Given the description of an element on the screen output the (x, y) to click on. 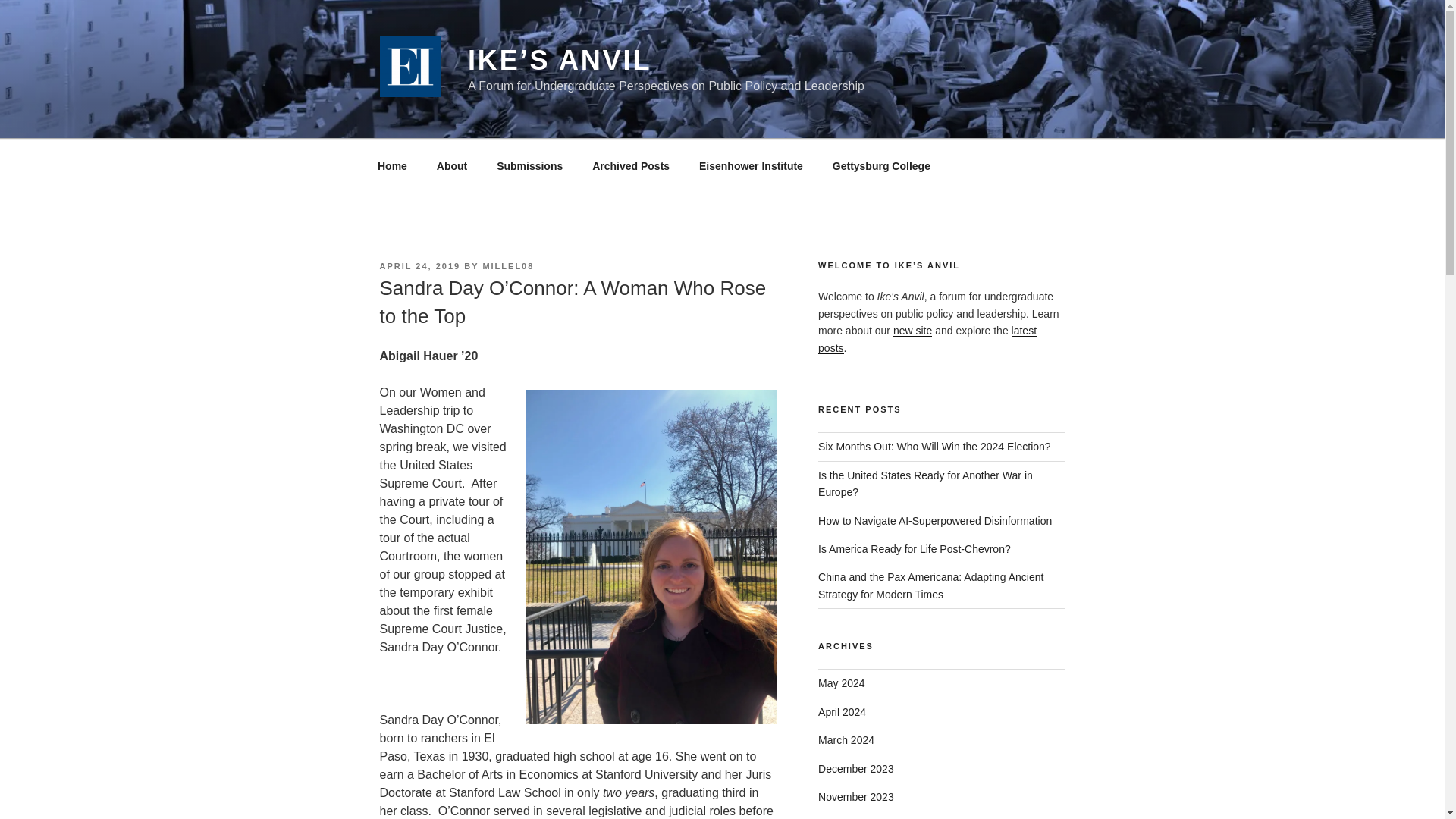
About (451, 165)
new site (912, 330)
Gettysburg College (880, 165)
Six Months Out: Who Will Win the 2024 Election? (934, 446)
Submissions (529, 165)
How to Navigate AI-Superpowered Disinformation (934, 521)
December 2023 (855, 768)
May 2024 (841, 683)
Archived Posts (630, 165)
November 2023 (855, 797)
Is America Ready for Life Post-Chevron? (914, 548)
April 2024 (842, 711)
Is the United States Ready for Another War in Europe? (925, 483)
Eisenhower Institute (750, 165)
